Given the description of an element on the screen output the (x, y) to click on. 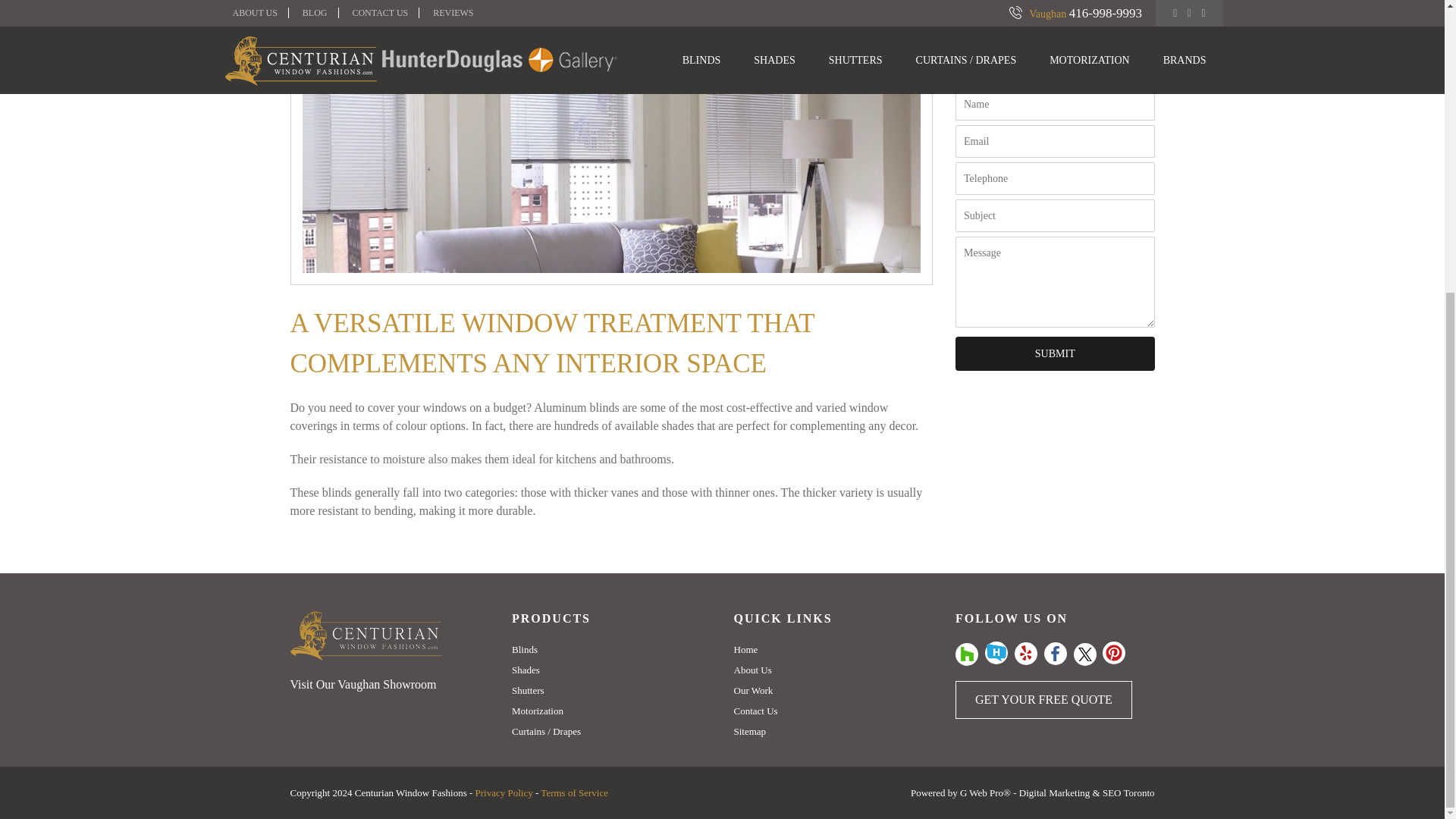
SUBMIT (1054, 353)
Shades (526, 669)
SUBMIT (1054, 353)
Blinds (524, 649)
Motorization (537, 710)
Shutters (528, 690)
